Given the description of an element on the screen output the (x, y) to click on. 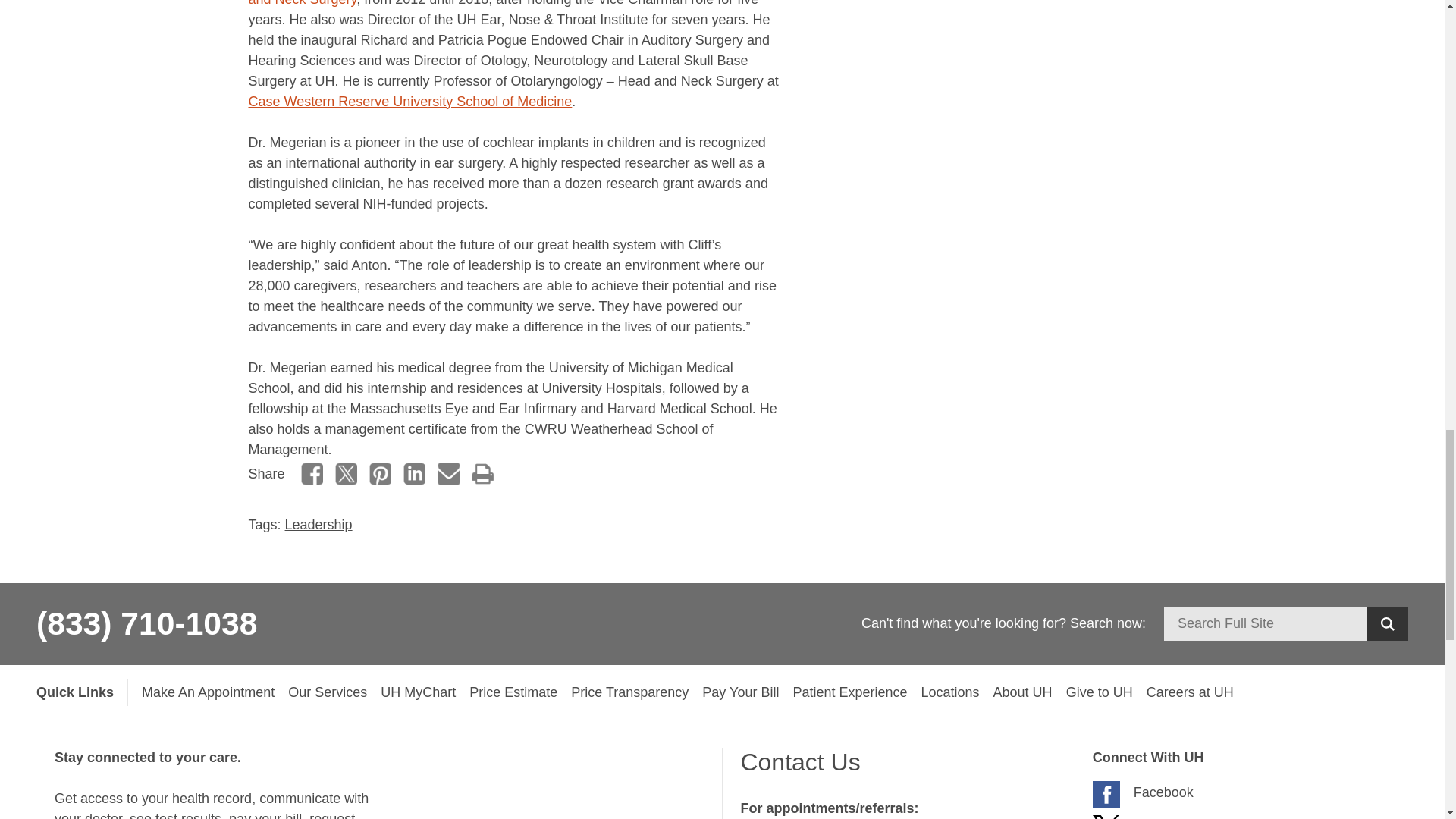
Search (1387, 623)
